Given the description of an element on the screen output the (x, y) to click on. 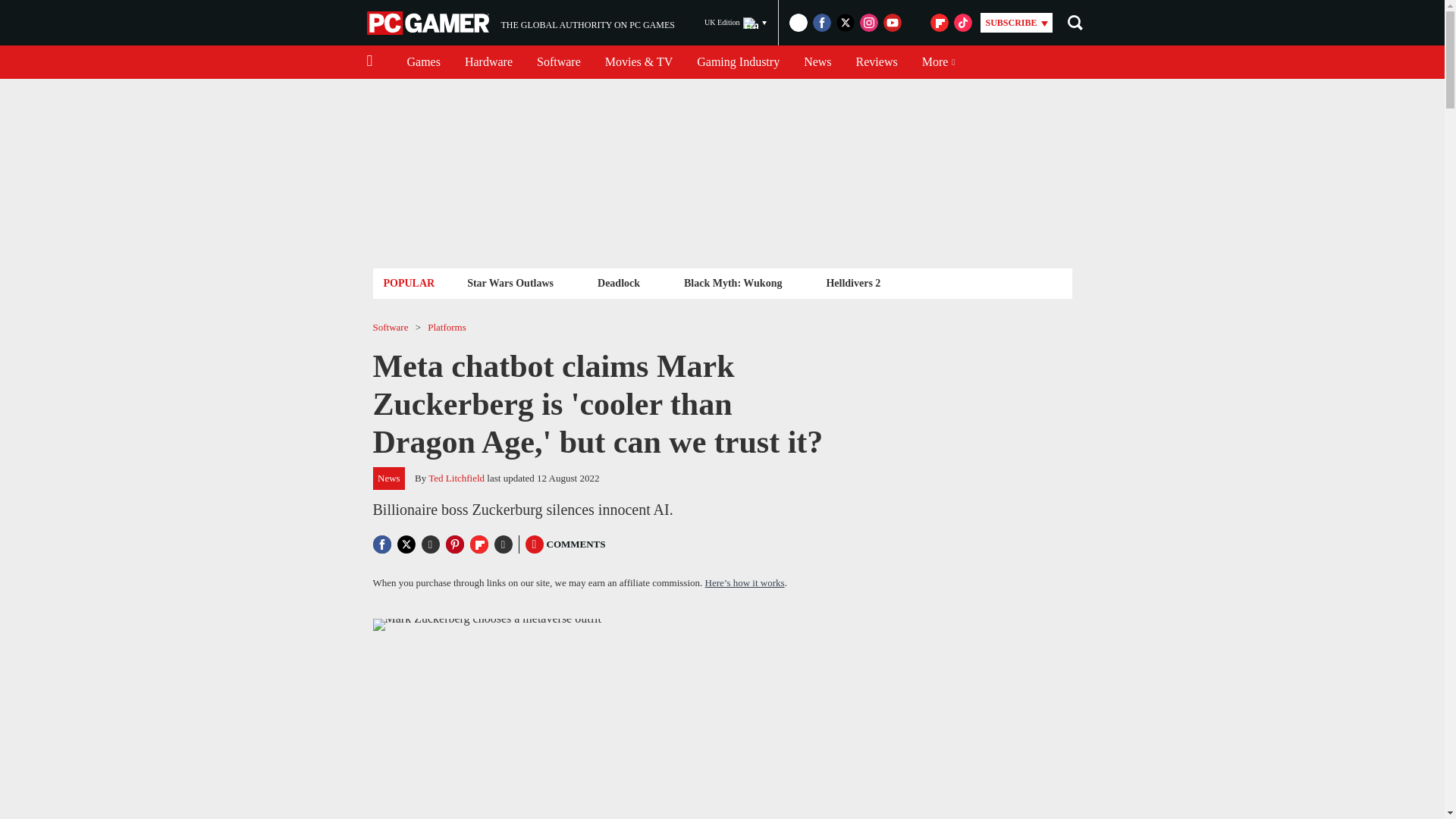
Reviews (877, 61)
Star Wars Outlaws (510, 282)
News (817, 61)
PC Gamer (429, 22)
Games (422, 61)
Deadlock (618, 282)
Gaming Industry (738, 61)
UK Edition (735, 22)
Hardware (488, 61)
